Given the description of an element on the screen output the (x, y) to click on. 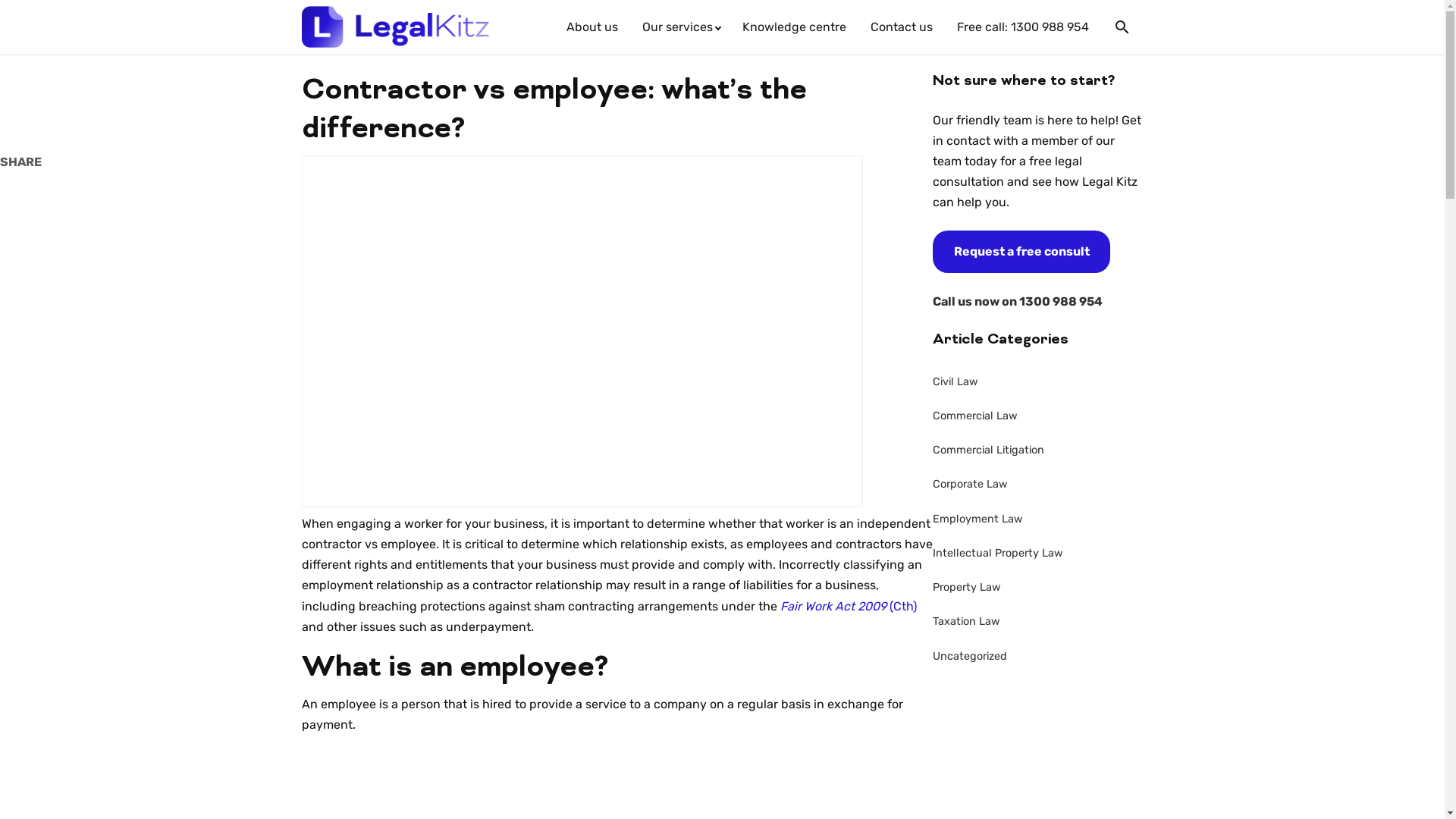
(Cth) Element type: text (902, 606)
Contact us Element type: text (901, 26)
Civil Law Element type: text (1037, 382)
Commercial Law Element type: text (1037, 416)
Knowledge centre Element type: text (793, 26)
Property Law Element type: text (1037, 587)
Our services Element type: text (679, 26)
Taxation Law Element type: text (1037, 622)
Call us now on 1300 988 954 Element type: text (1017, 301)
Corporate Law Element type: text (1037, 485)
Request a free consult Element type: text (1021, 251)
Intellectual Property Law Element type: text (1037, 553)
Employment Law Element type: text (1037, 519)
About us Element type: text (592, 26)
Fair Work Act 2009 Element type: text (833, 606)
Search Element type: text (1122, 26)
Uncategorized Element type: text (1037, 656)
Free call: 1300 988 954 Element type: text (1022, 26)
Commercial Litigation Element type: text (1037, 450)
